Given the description of an element on the screen output the (x, y) to click on. 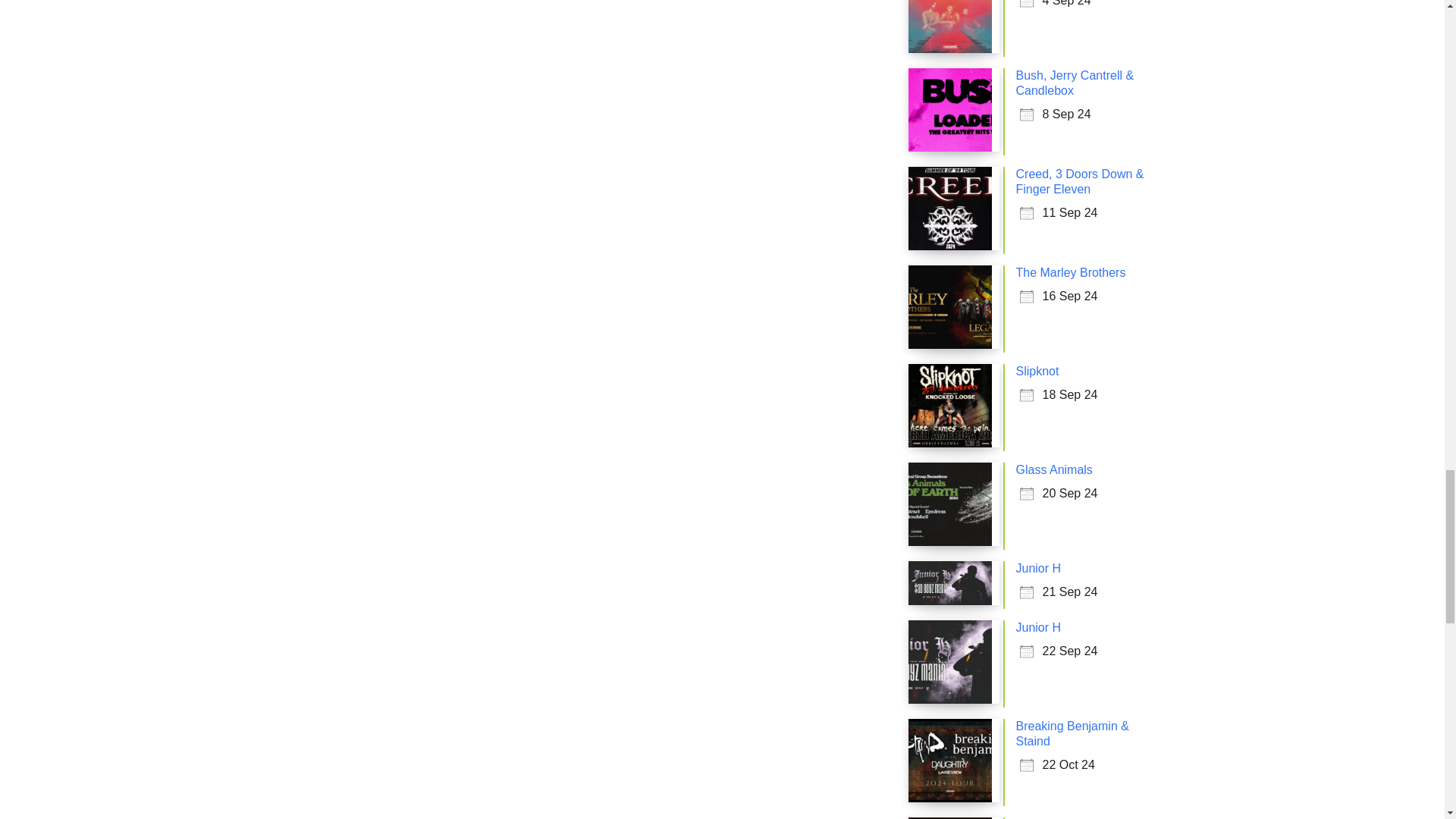
Slipknot (1037, 370)
Glass Animals (1054, 469)
Junior H (1038, 567)
The Marley Brothers (1070, 272)
